Given the description of an element on the screen output the (x, y) to click on. 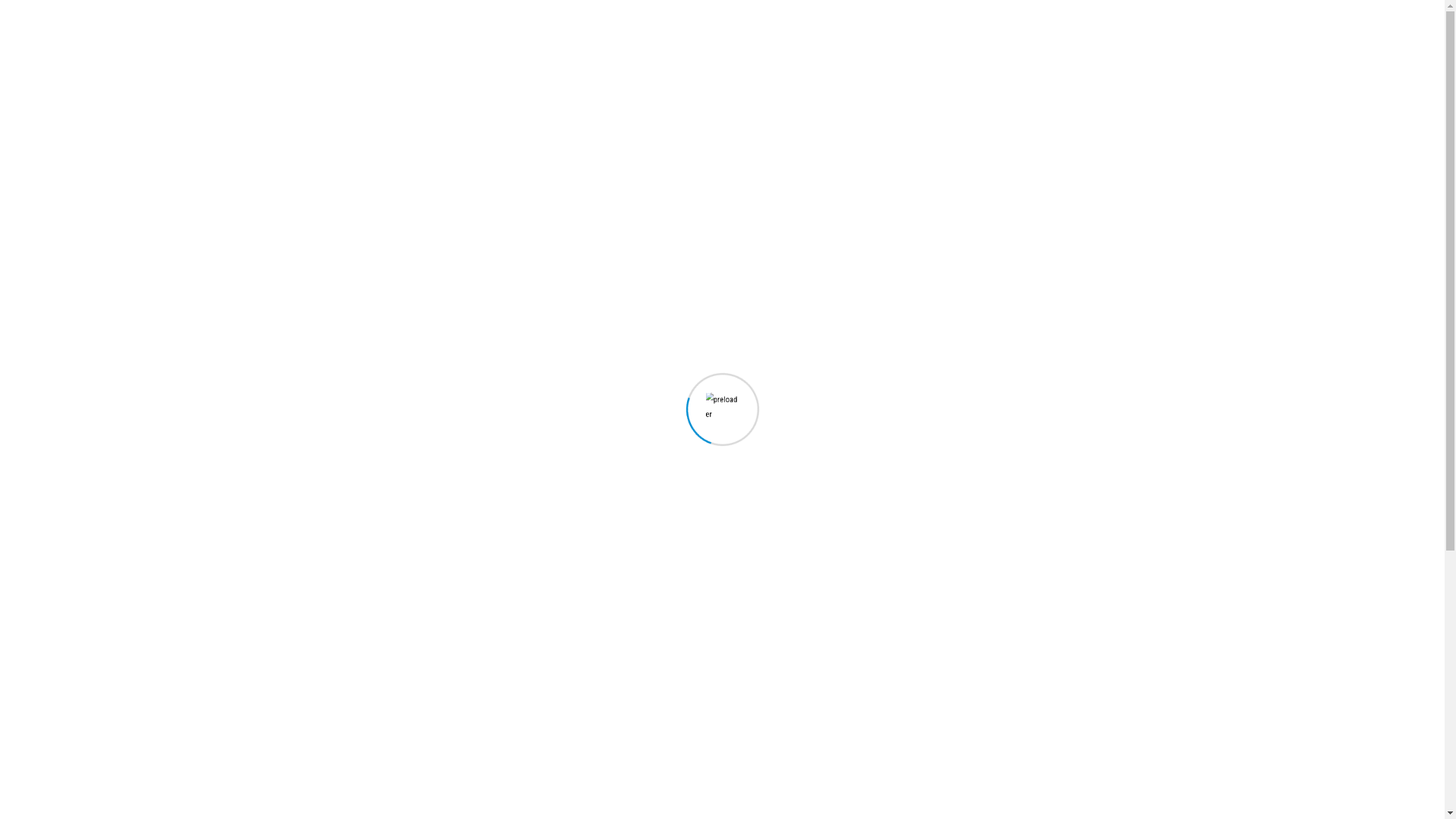
Privacy Policy Element type: text (1129, 718)
Contact Element type: text (963, 42)
Accept All Element type: text (1321, 755)
Packages Element type: text (836, 42)
Home Element type: text (704, 232)
Our Portfolio Element type: text (748, 42)
About Us Element type: text (570, 42)
Home Element type: text (501, 42)
Our Service Element type: text (654, 42)
Blog Element type: text (902, 42)
Reject All Element type: text (1172, 755)
Get A Quote Element type: text (1113, 42)
